Given the description of an element on the screen output the (x, y) to click on. 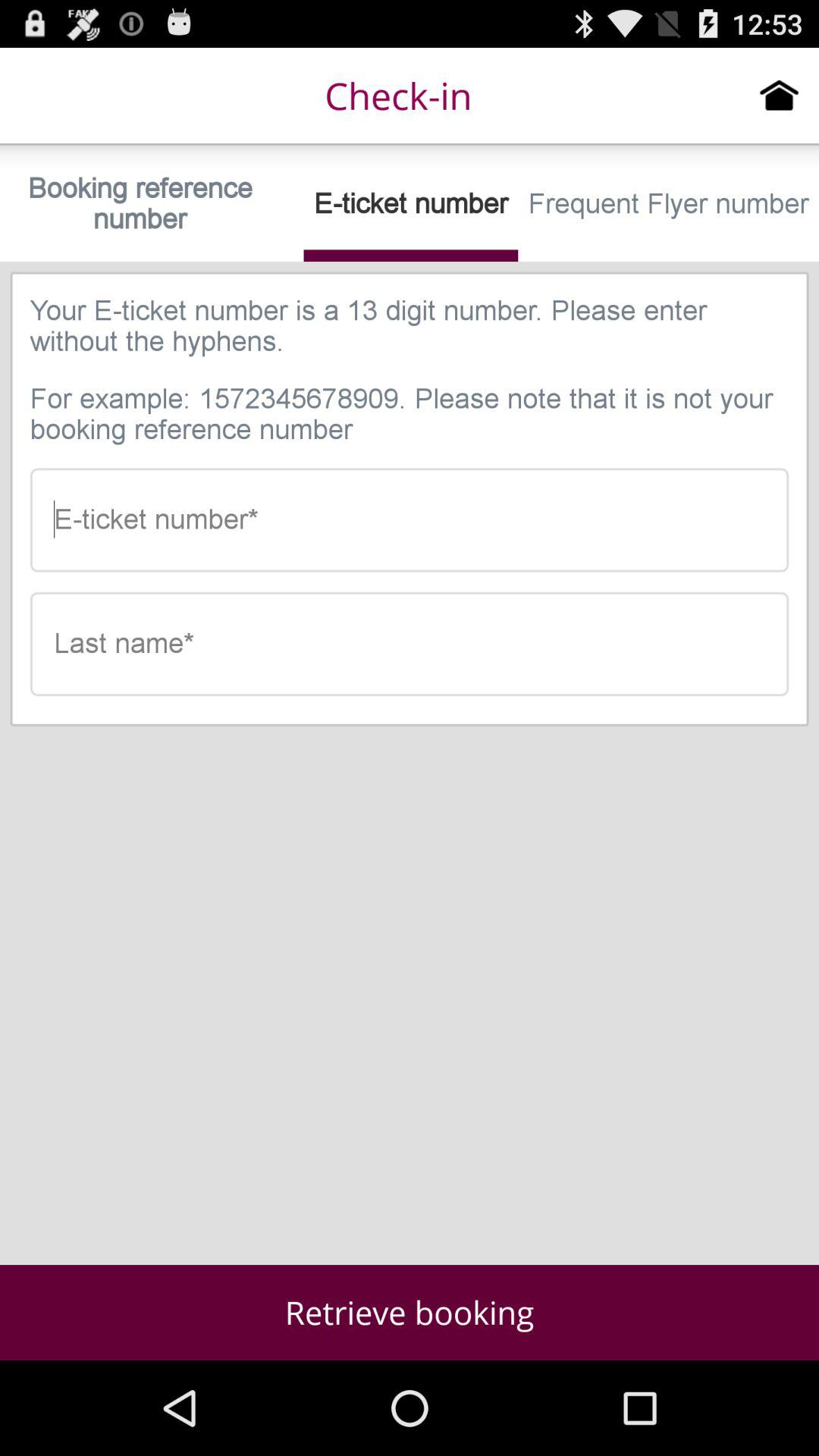
launch item above frequent flyer number (779, 95)
